Given the description of an element on the screen output the (x, y) to click on. 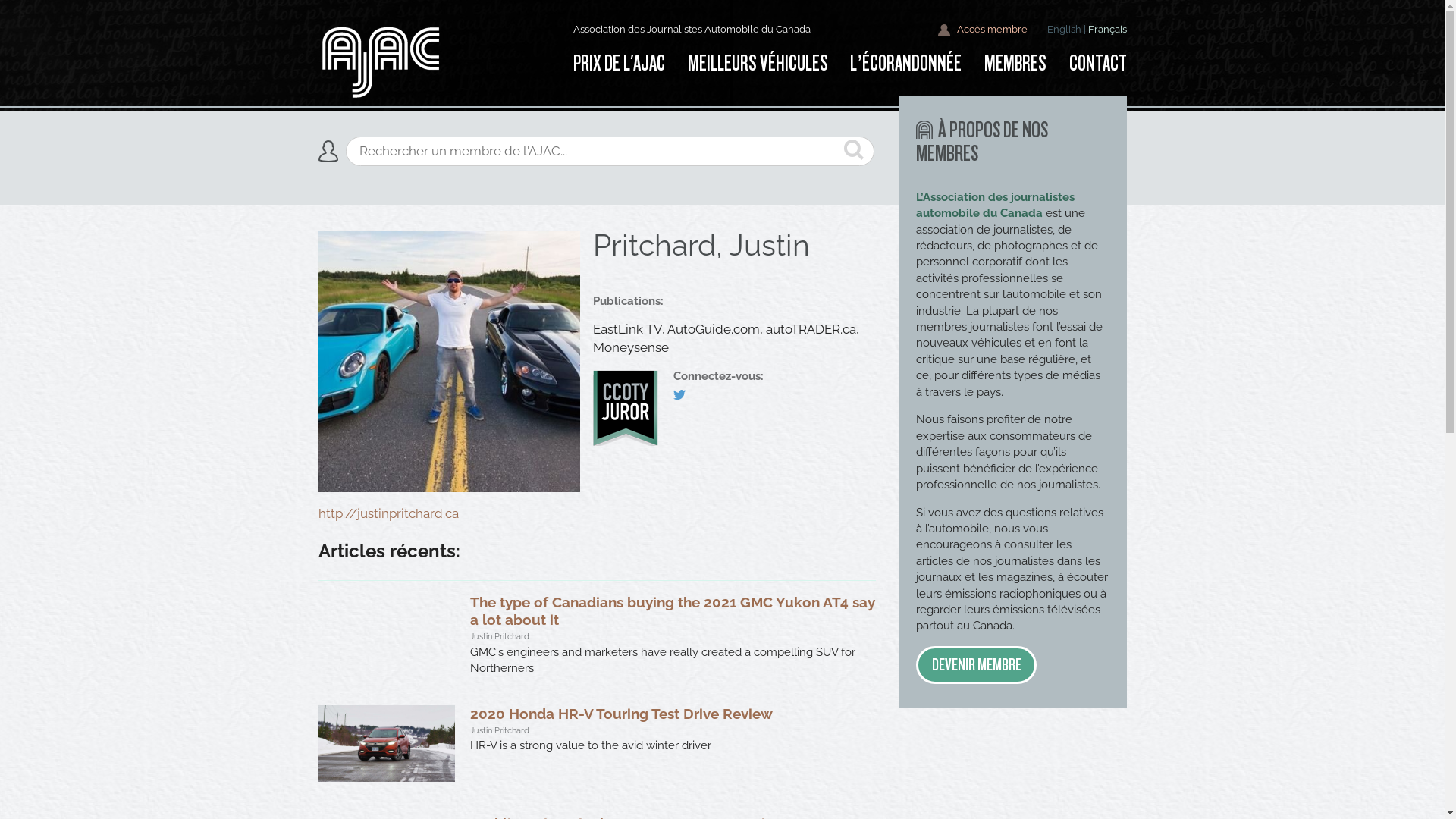
http://justinpritchard.ca Element type: text (388, 512)
CONTACT Element type: text (1091, 63)
DEVENIR MEMBRE Element type: text (975, 665)
MEMBRES Element type: text (1014, 63)
Justin Pritchard Element type: text (499, 729)
English Element type: text (1063, 28)
Justin Pritchard Element type: text (499, 635)
PRIX DE L'AJAC Element type: text (624, 63)
2020 Honda HR-V Touring Test Drive Review Element type: text (621, 713)
